Given the description of an element on the screen output the (x, y) to click on. 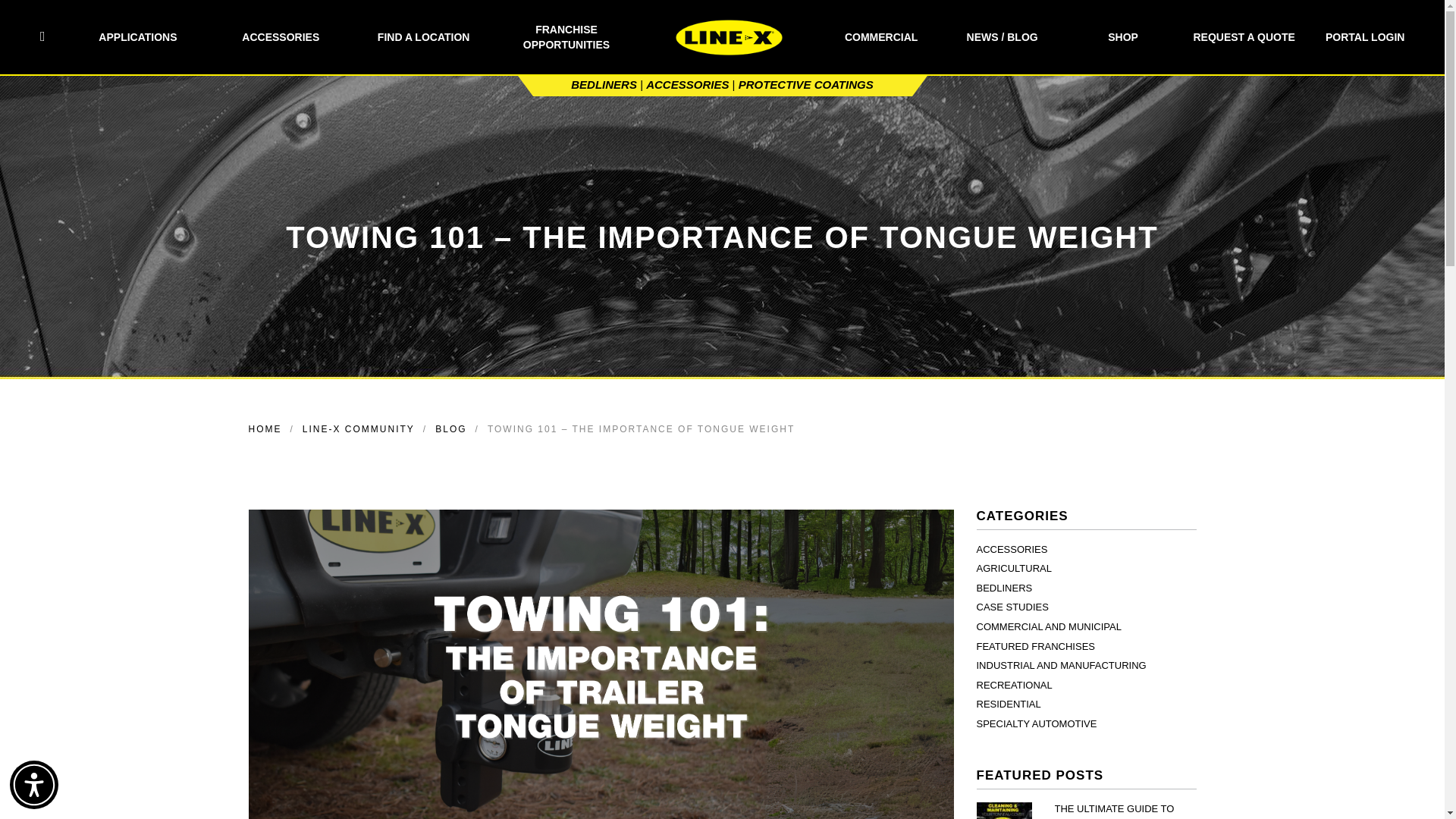
Accessibility Menu (34, 784)
